Given the description of an element on the screen output the (x, y) to click on. 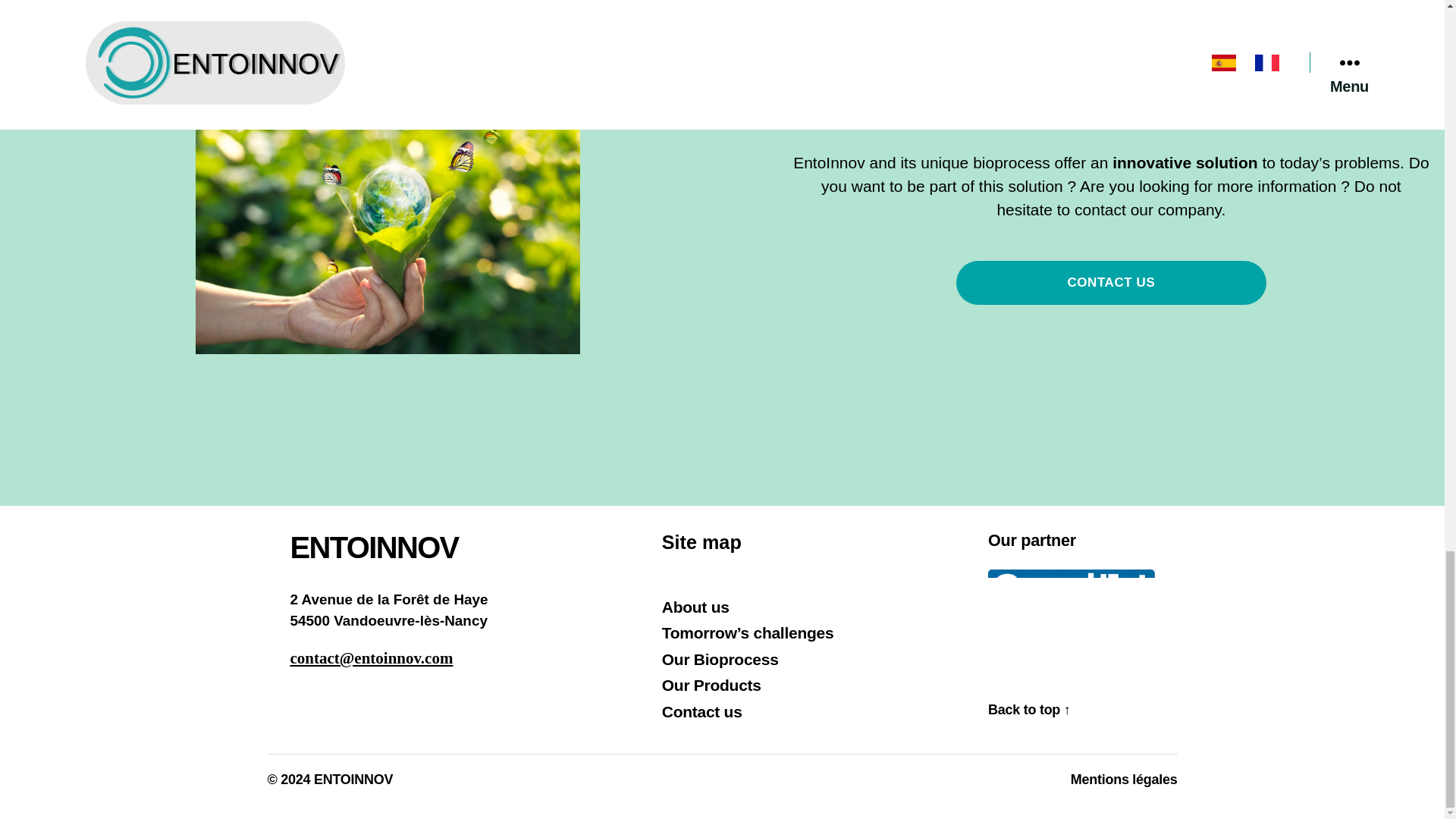
Contact us (702, 711)
CONTACT US (1111, 283)
Our Products (711, 684)
About us (695, 606)
Our Bioprocess (720, 659)
